Given the description of an element on the screen output the (x, y) to click on. 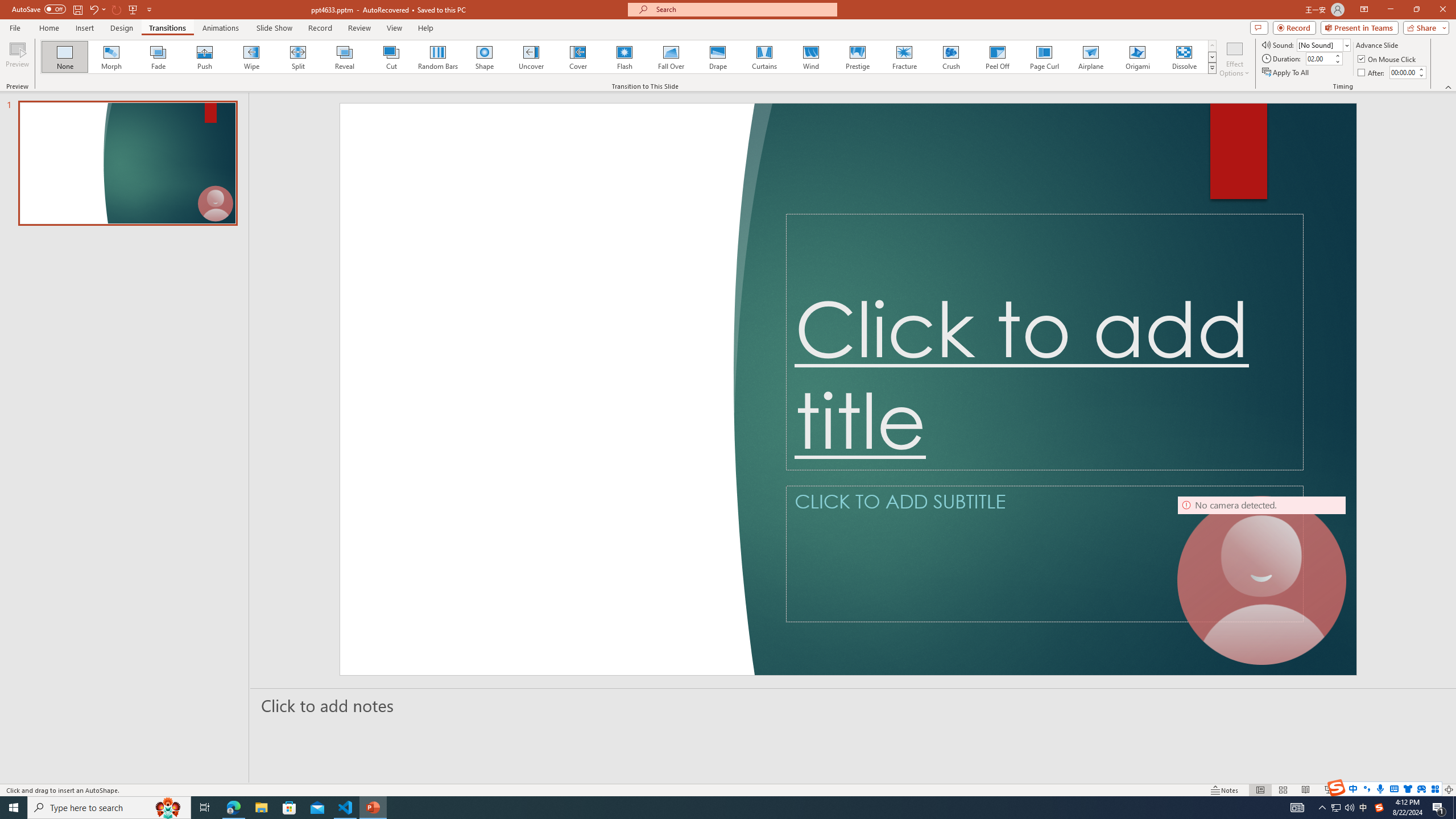
Flash (624, 56)
After (1403, 72)
Cover (577, 56)
Wind (810, 56)
Curtains (764, 56)
Crush (950, 56)
